Given the description of an element on the screen output the (x, y) to click on. 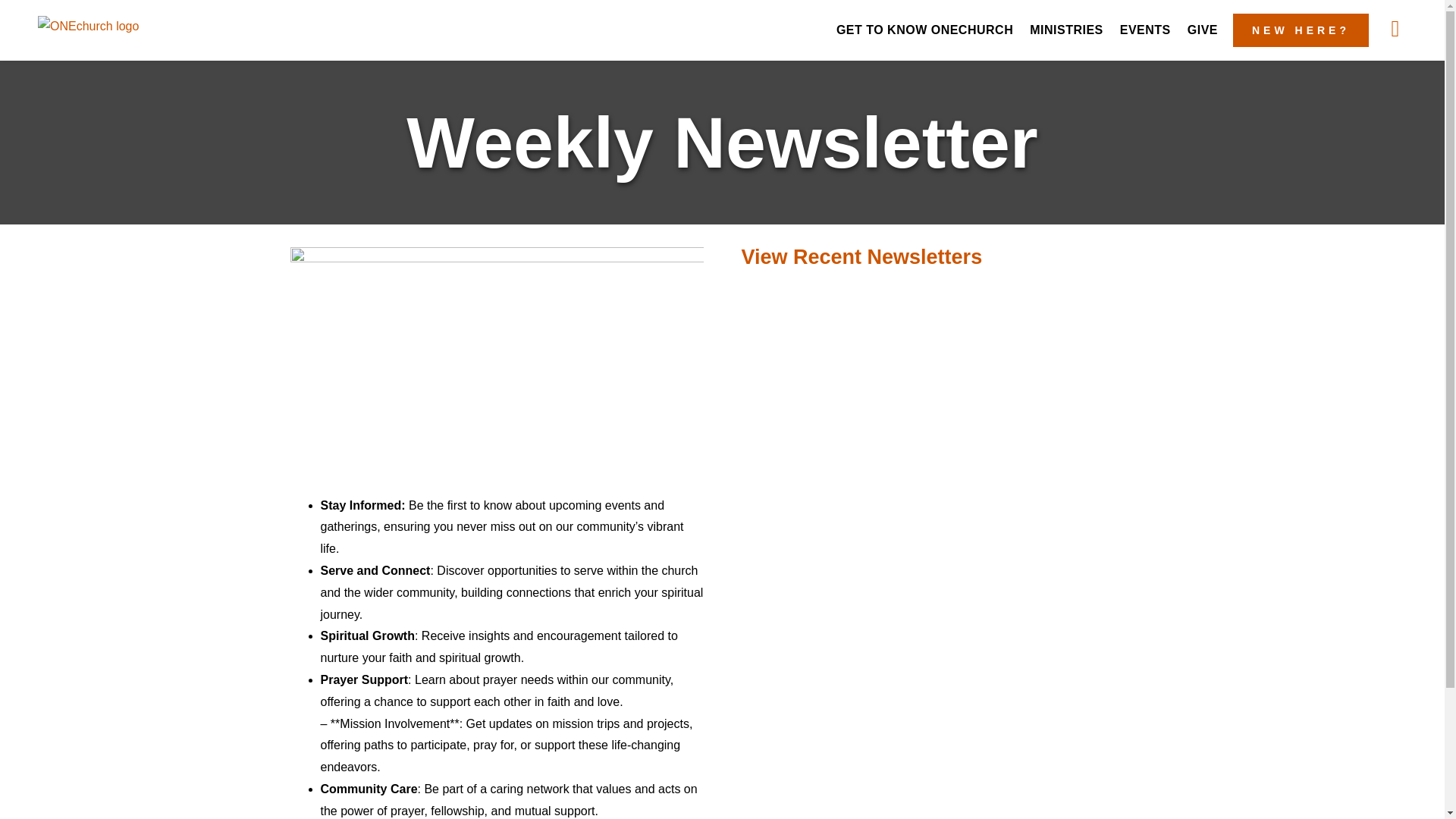
EVENTS (1144, 30)
GET TO KNOW ONECHURCH (924, 30)
NEW HERE? (1300, 29)
MINISTRIES (1066, 30)
